Given the description of an element on the screen output the (x, y) to click on. 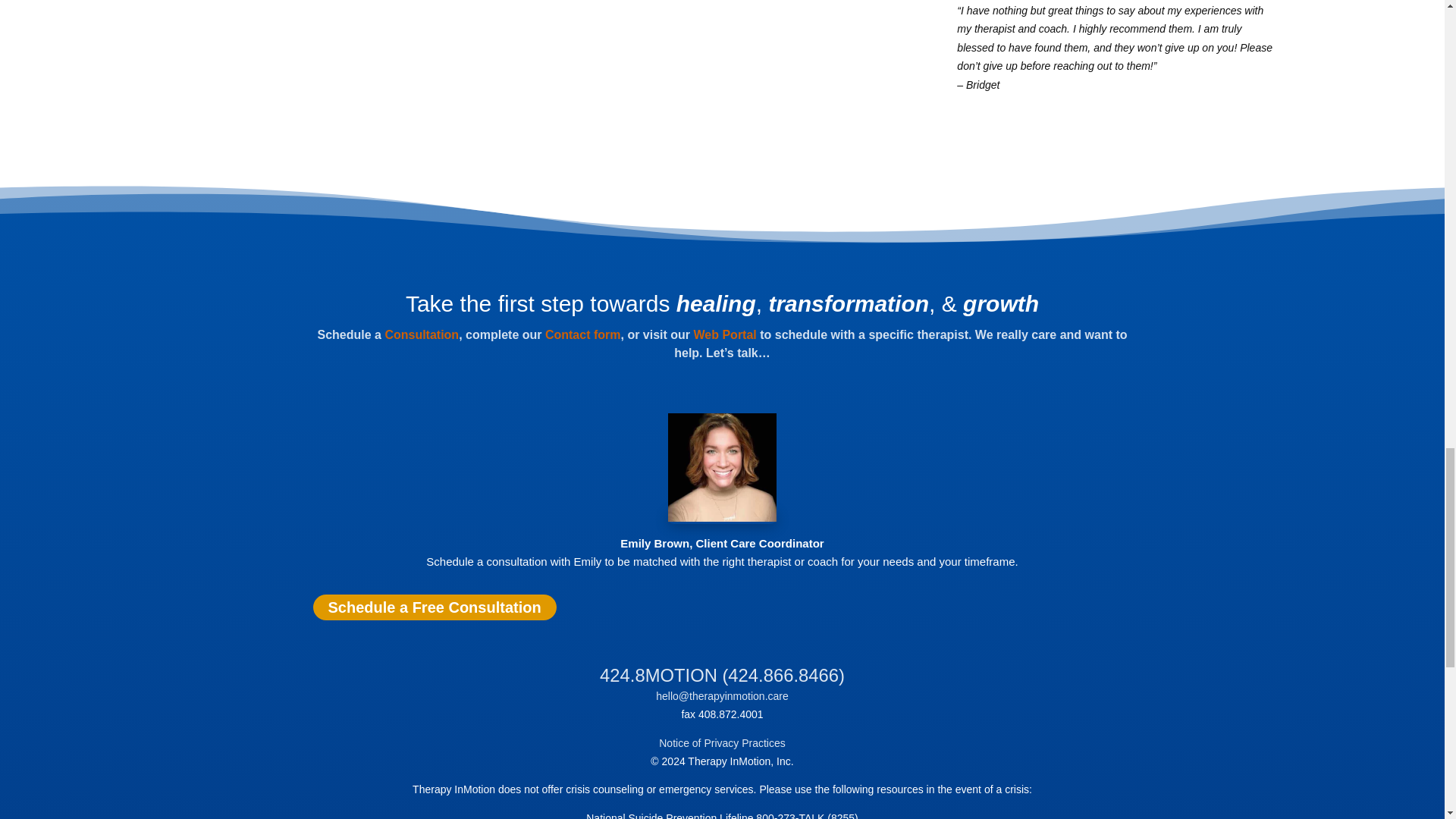
Contact form (582, 334)
Consultation (421, 334)
Emily Brown SQ3 (722, 467)
Schedule a Free Consultation (434, 606)
Web Portal (725, 334)
